Given the description of an element on the screen output the (x, y) to click on. 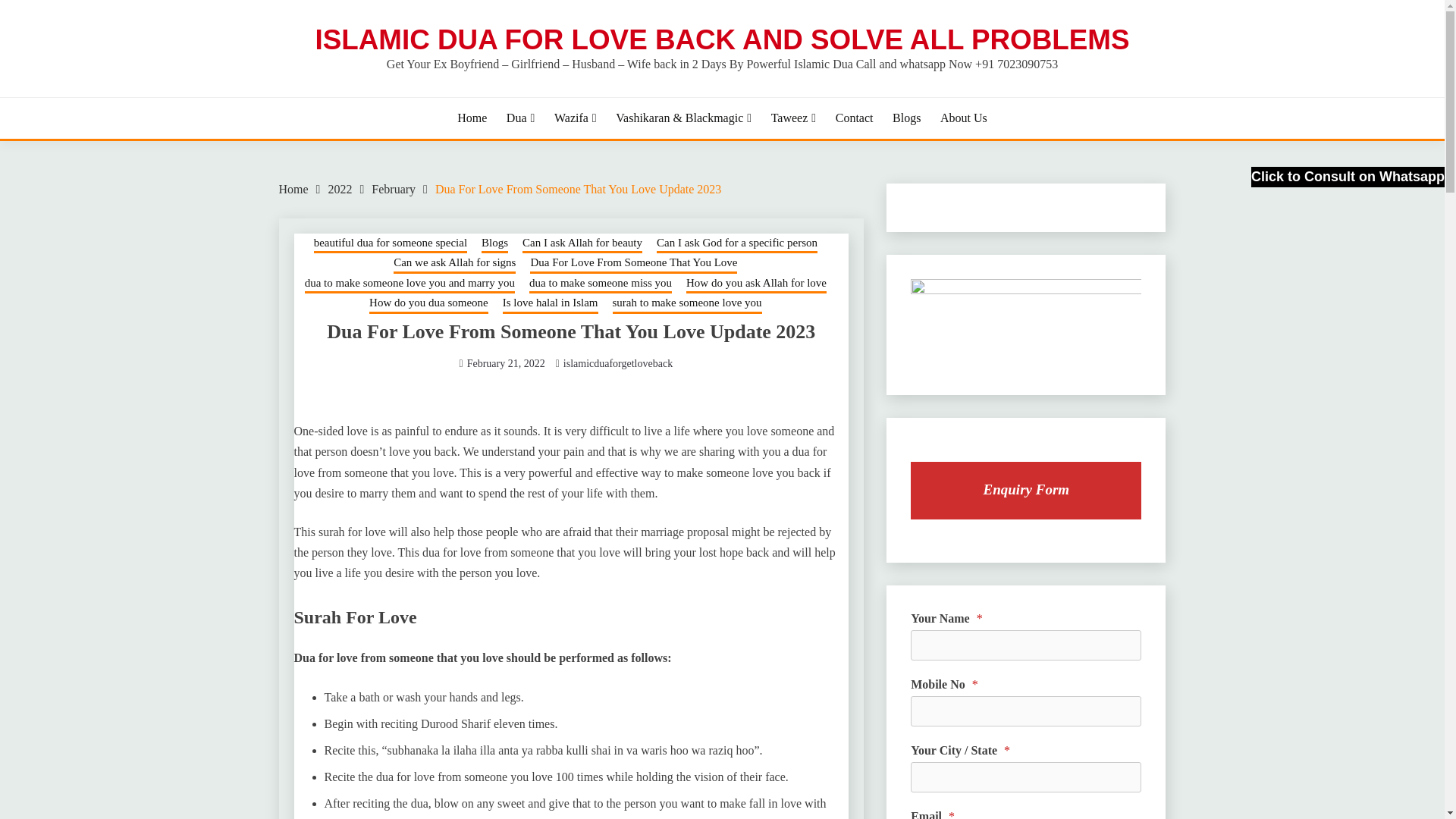
Wazifa (575, 117)
About Us (963, 117)
Blogs (906, 117)
Taweez (793, 117)
Home (471, 117)
ISLAMIC DUA FOR LOVE BACK AND SOLVE ALL PROBLEMS (722, 39)
Dua (520, 117)
Contact (854, 117)
